Given the description of an element on the screen output the (x, y) to click on. 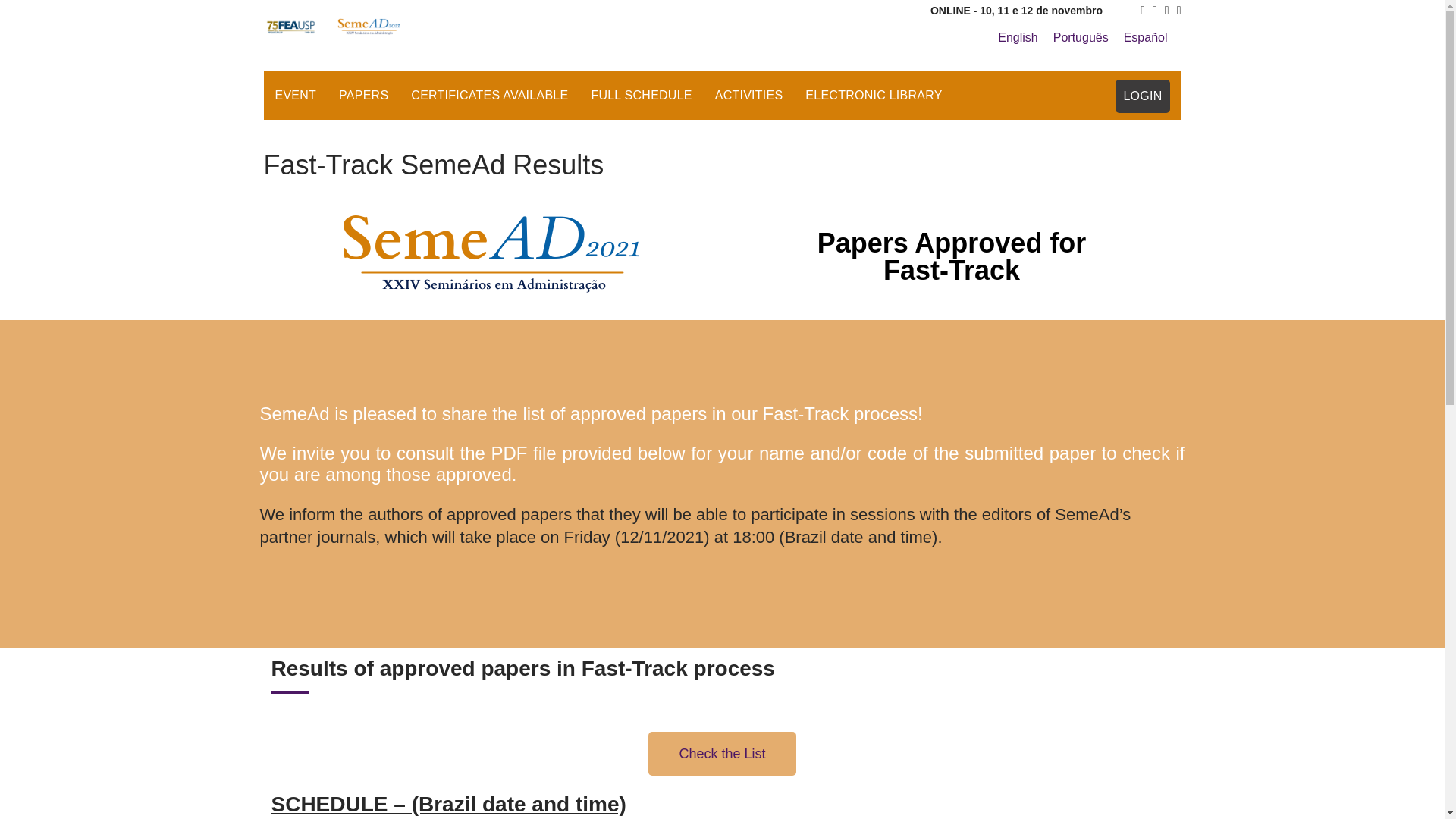
PAPERS (374, 102)
English (1017, 37)
ONLINE - 10, 11 e 12 de novembro (1016, 10)
EVENT (307, 102)
